Given the description of an element on the screen output the (x, y) to click on. 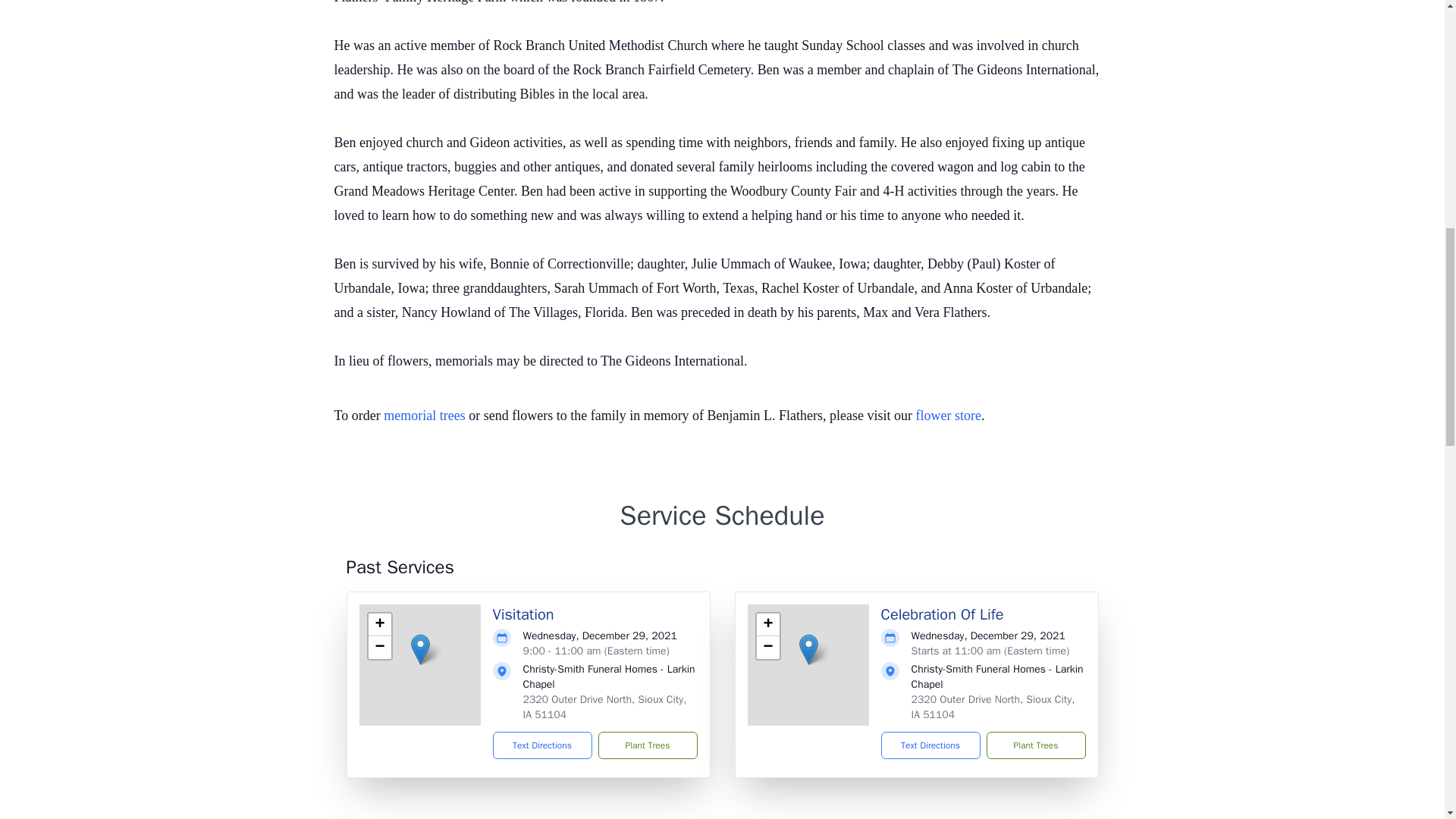
2320 Outer Drive North, Sioux City, IA 51104 (993, 706)
flower store (948, 415)
memorial trees (424, 415)
Zoom out (379, 647)
Plant Trees (1034, 745)
Zoom in (379, 624)
2320 Outer Drive North, Sioux City, IA 51104 (604, 706)
Text Directions (542, 745)
Zoom in (767, 624)
Zoom out (767, 647)
Plant Trees (646, 745)
Text Directions (929, 745)
